Given the description of an element on the screen output the (x, y) to click on. 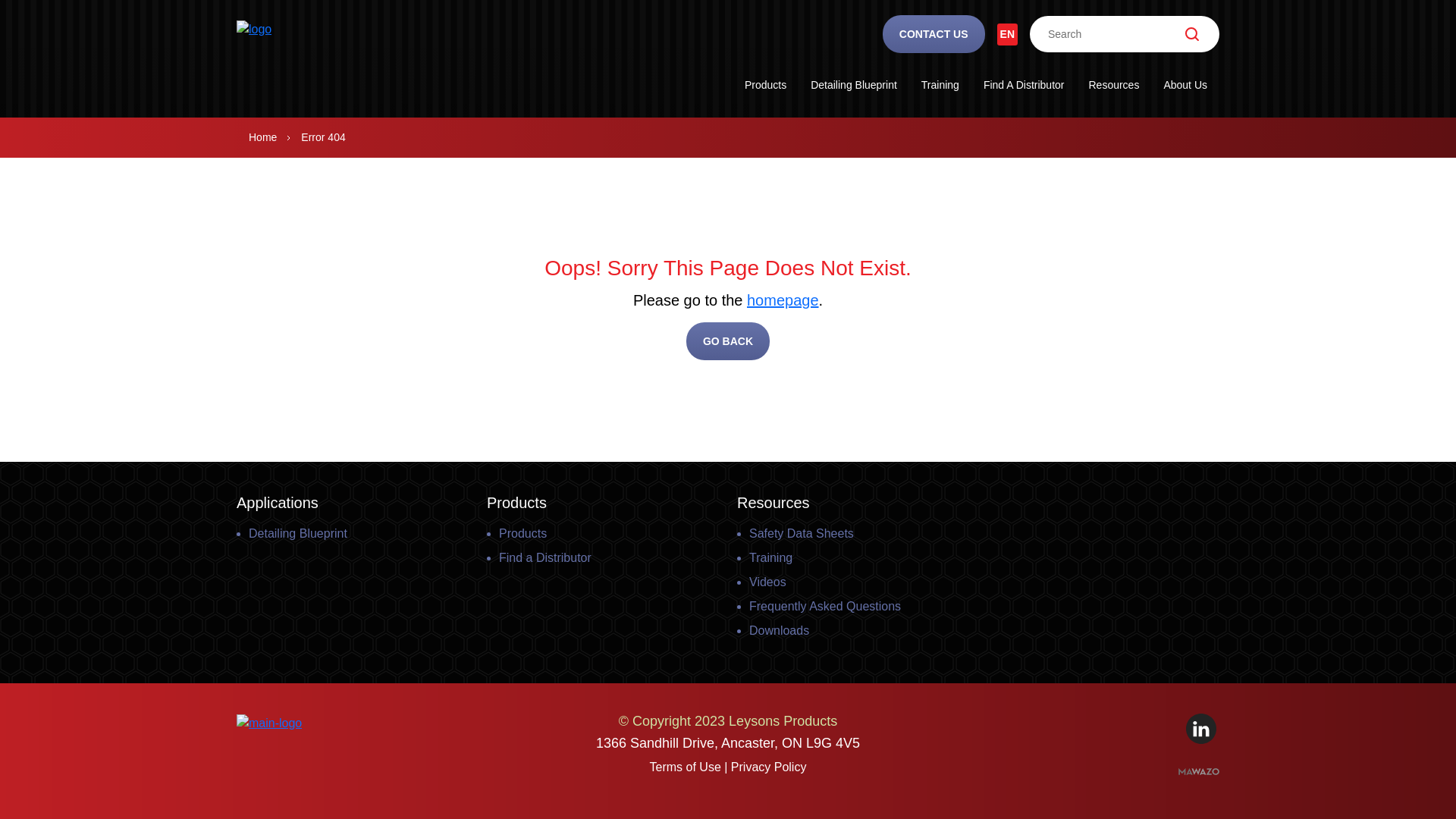
Products Element type: text (522, 533)
CONTACT US Element type: text (933, 34)
Find A Distributor Element type: text (1023, 91)
Detailing Blueprint Element type: text (853, 91)
Privacy Policy Element type: text (768, 766)
Training Element type: text (940, 91)
EN Element type: text (1007, 33)
About Us Element type: text (1185, 91)
Terms of Use Element type: text (685, 766)
Products Element type: text (765, 91)
Resources Element type: text (1113, 91)
Downloads Element type: text (779, 630)
Videos Element type: text (767, 581)
Find a Distributor Element type: text (544, 557)
Home Element type: text (262, 137)
Training Element type: text (770, 557)
homepage Element type: text (782, 299)
GO BACK Element type: text (727, 341)
Safety Data Sheets Element type: text (801, 533)
Detailing Blueprint Element type: text (297, 533)
Frequently Asked Questions Element type: text (824, 605)
